Given the description of an element on the screen output the (x, y) to click on. 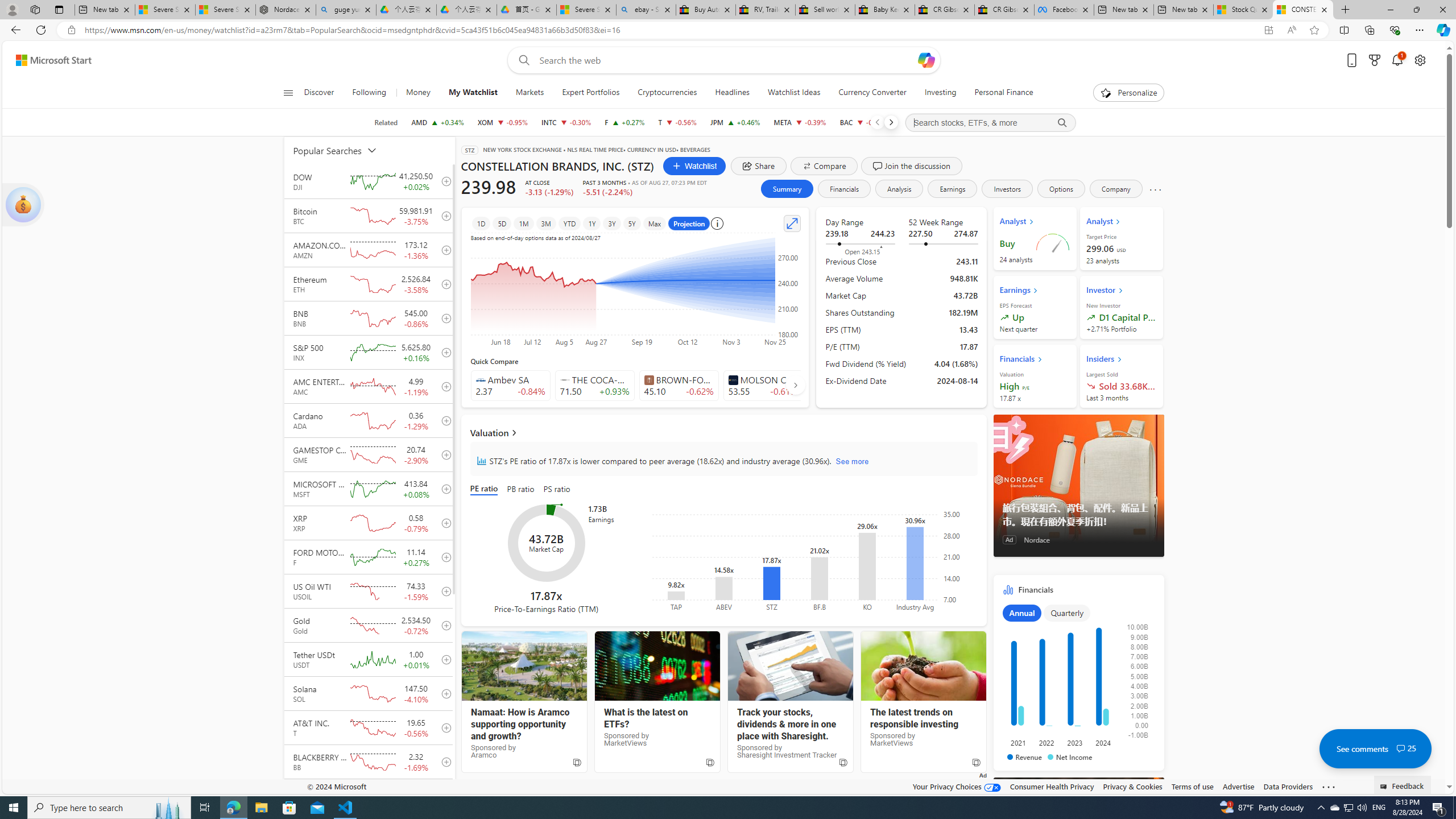
Watchlist Ideas (794, 92)
Class: feedback_link_icon-DS-EntryPoint1-1 (1384, 786)
3Y (611, 223)
Personal Finance (1003, 92)
share dialog (758, 166)
Watchlist (694, 166)
Class: chartSvg (1075, 680)
